Given the description of an element on the screen output the (x, y) to click on. 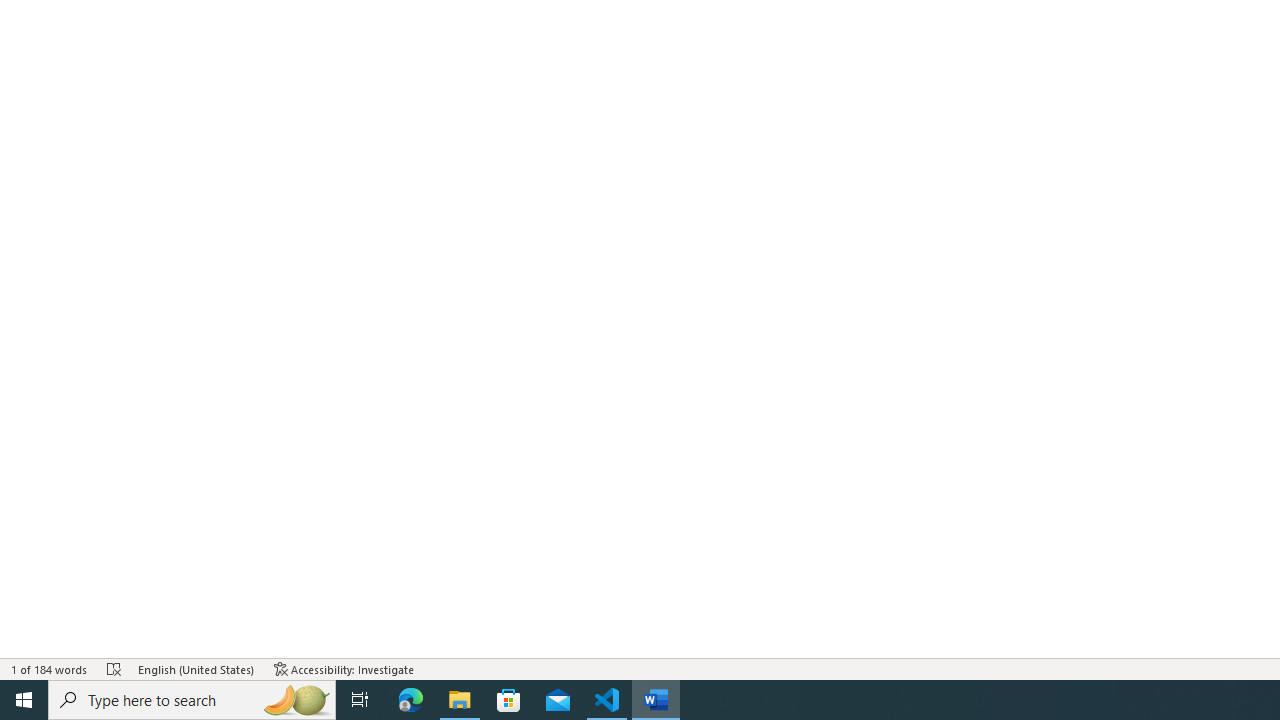
Word - 1 running window (656, 699)
Word Count 1 of 184 words (49, 668)
